Given the description of an element on the screen output the (x, y) to click on. 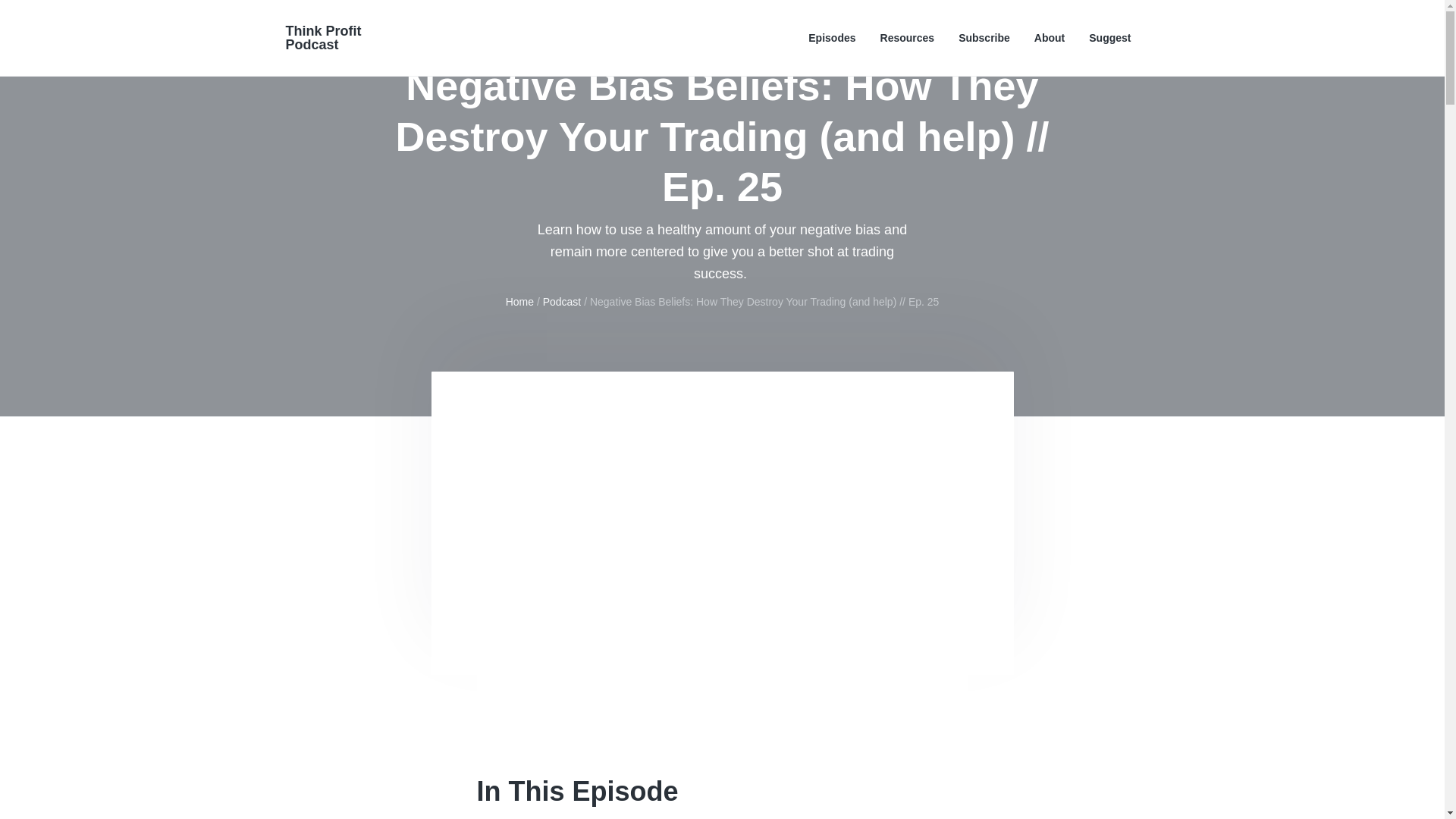
Subscribe (984, 37)
About (1048, 37)
Think Profit Podcast (323, 37)
Podcast (561, 301)
Search (60, 18)
Home (519, 301)
Episodes (832, 37)
Resources (907, 37)
Suggest (1110, 37)
